Given the description of an element on the screen output the (x, y) to click on. 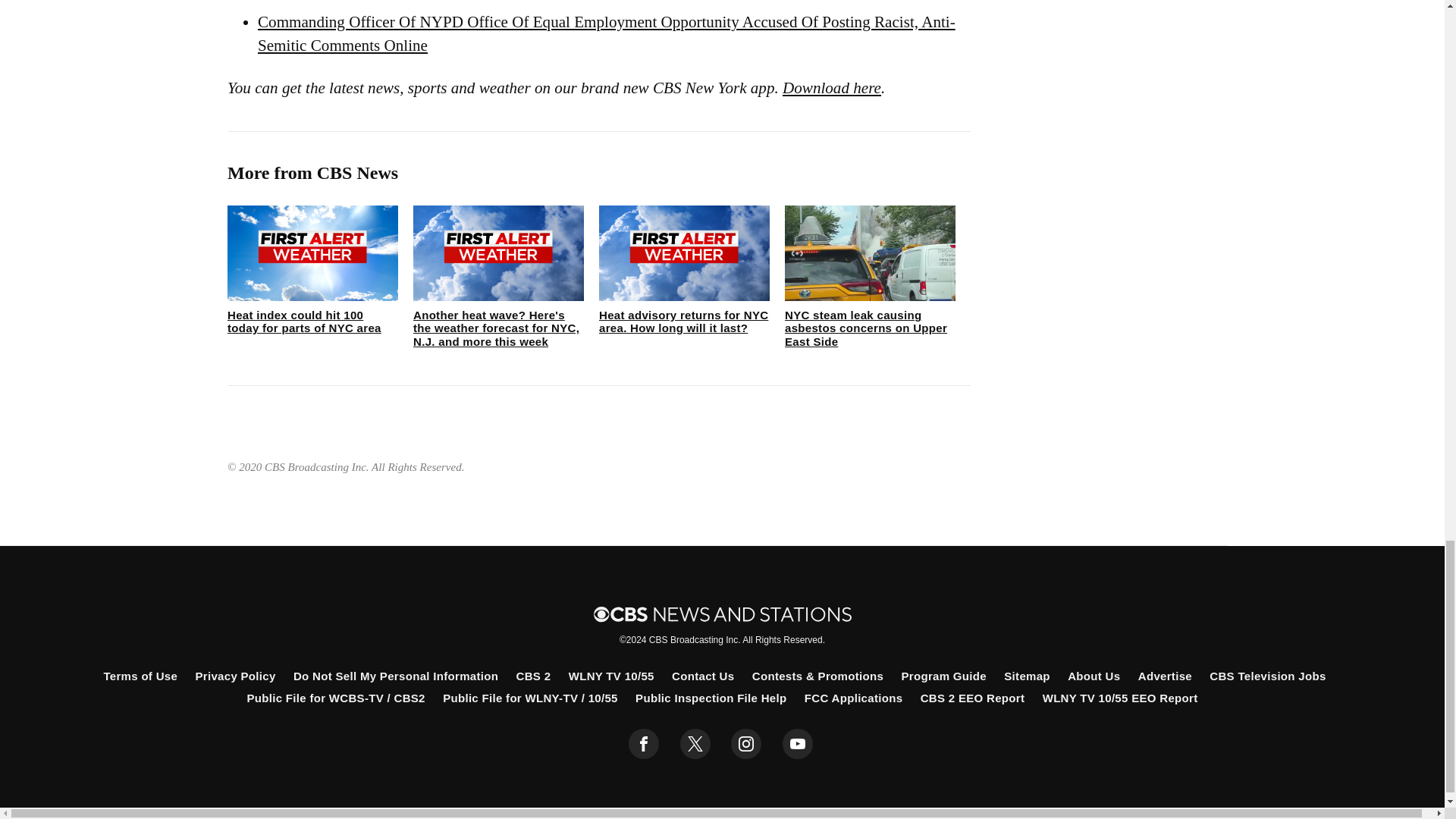
twitter (694, 743)
youtube (797, 743)
instagram (745, 743)
facebook (643, 743)
